Given the description of an element on the screen output the (x, y) to click on. 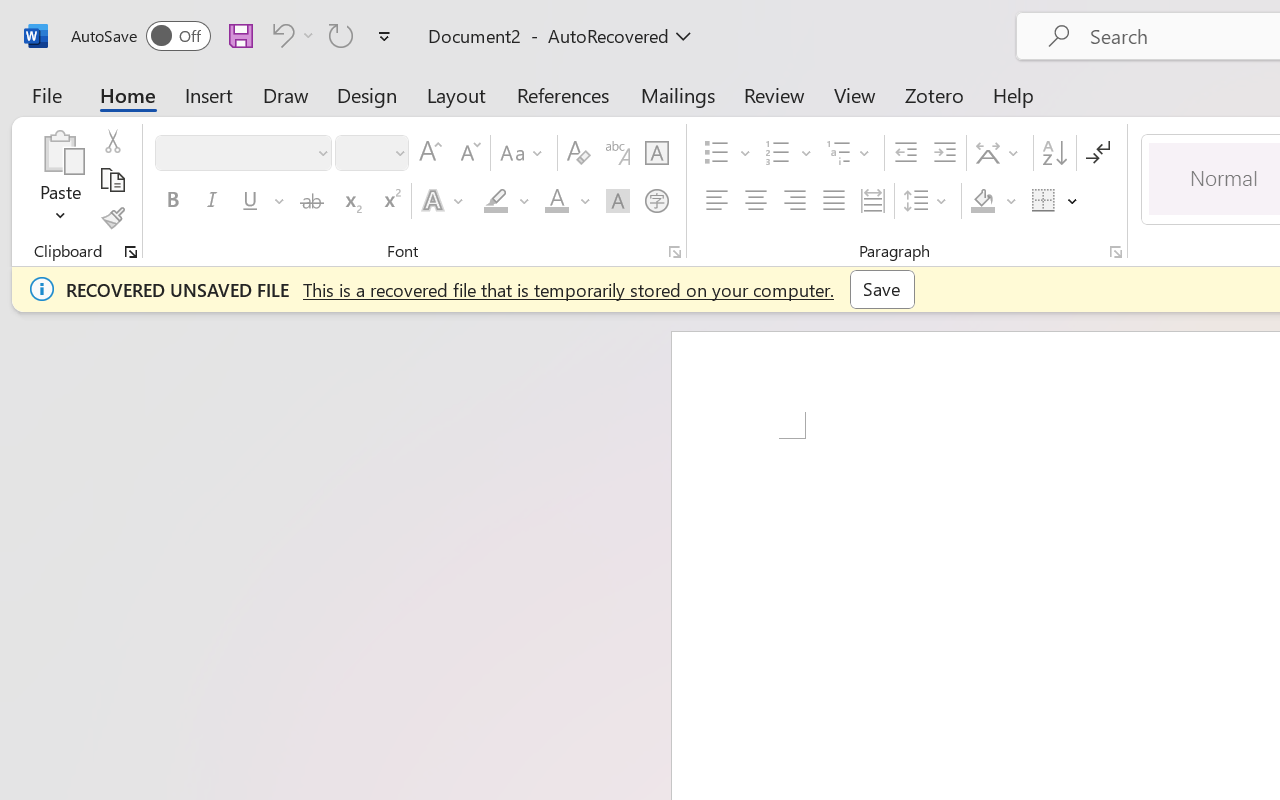
Enclose Characters... (656, 201)
Multilevel List (850, 153)
Font... (675, 252)
Italic (212, 201)
Open (399, 152)
Grow Font (430, 153)
Cut (112, 141)
Increase Indent (944, 153)
Justify (834, 201)
Help (1013, 94)
Can't Undo (290, 35)
